Given the description of an element on the screen output the (x, y) to click on. 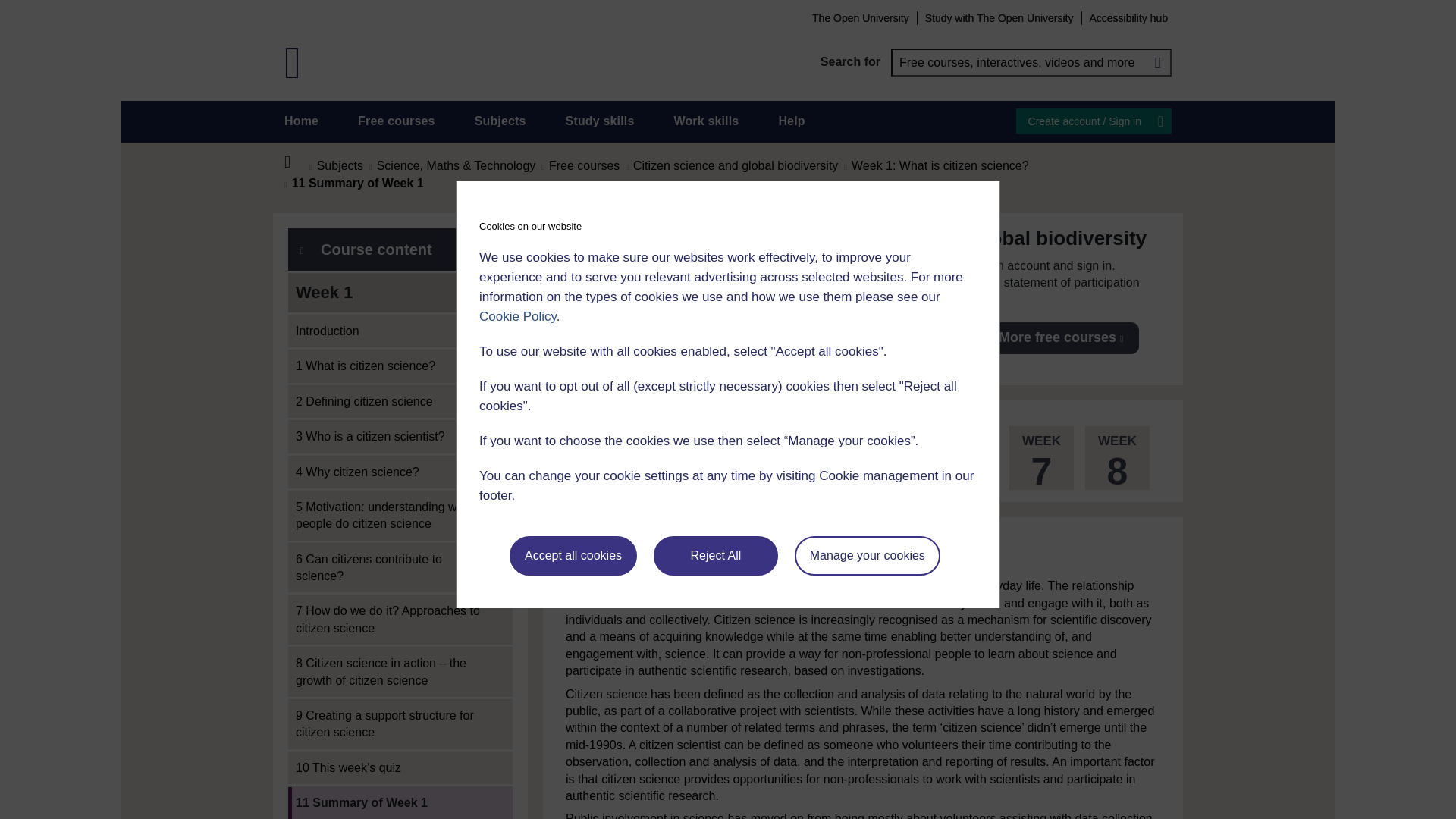
Manage your cookies (867, 555)
Study skills (600, 120)
Free courses (396, 120)
Work skills (705, 120)
Subjects (499, 120)
Accessibility hub (1129, 17)
Search (1157, 62)
Help (791, 120)
Accept all cookies (573, 555)
Home (295, 162)
Home (300, 120)
The Open University (860, 17)
Cookie Policy (517, 316)
Study with The Open University (999, 17)
Reject All (715, 555)
